Given the description of an element on the screen output the (x, y) to click on. 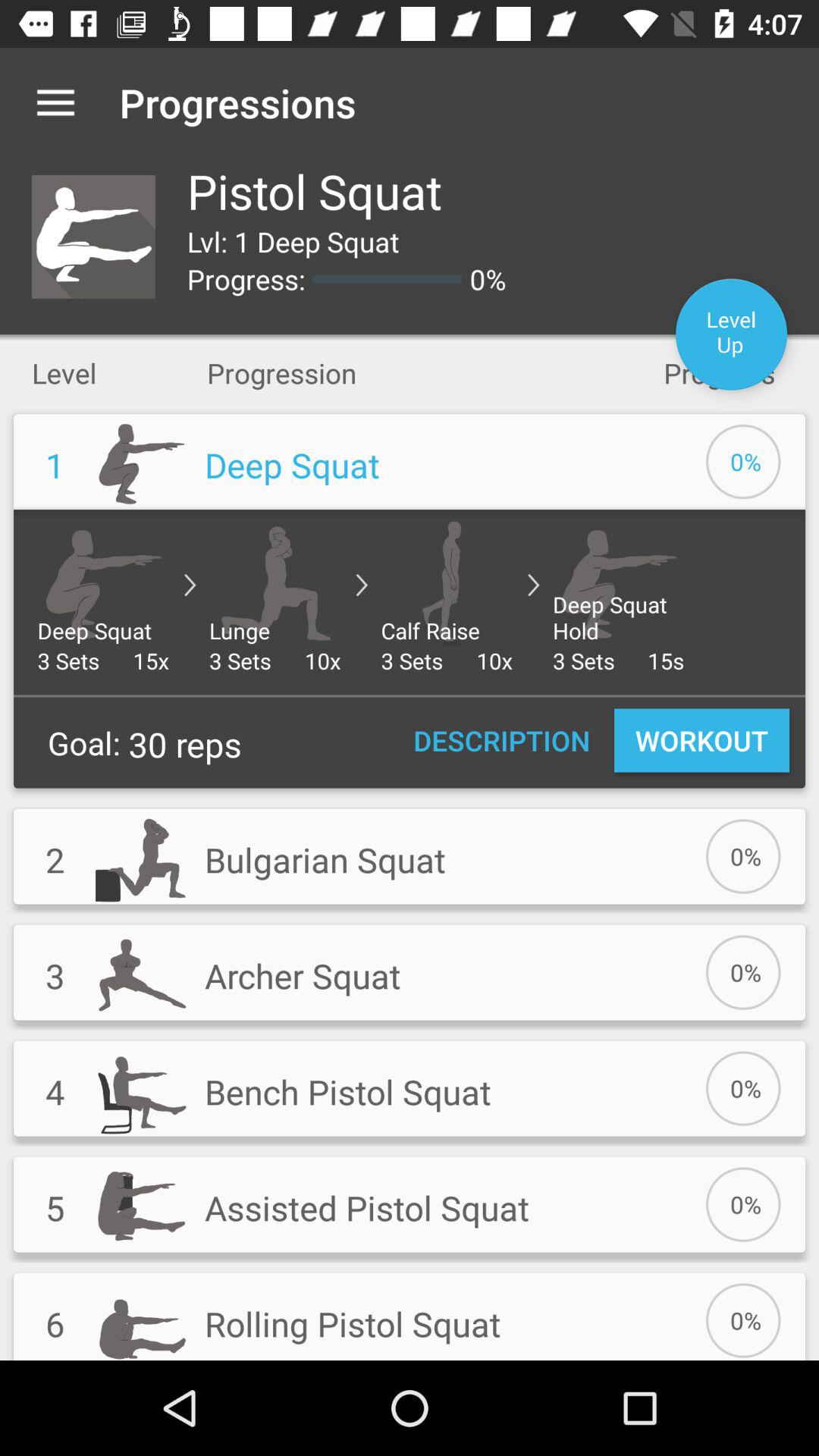
click item to the right of the 30 reps icon (501, 740)
